Given the description of an element on the screen output the (x, y) to click on. 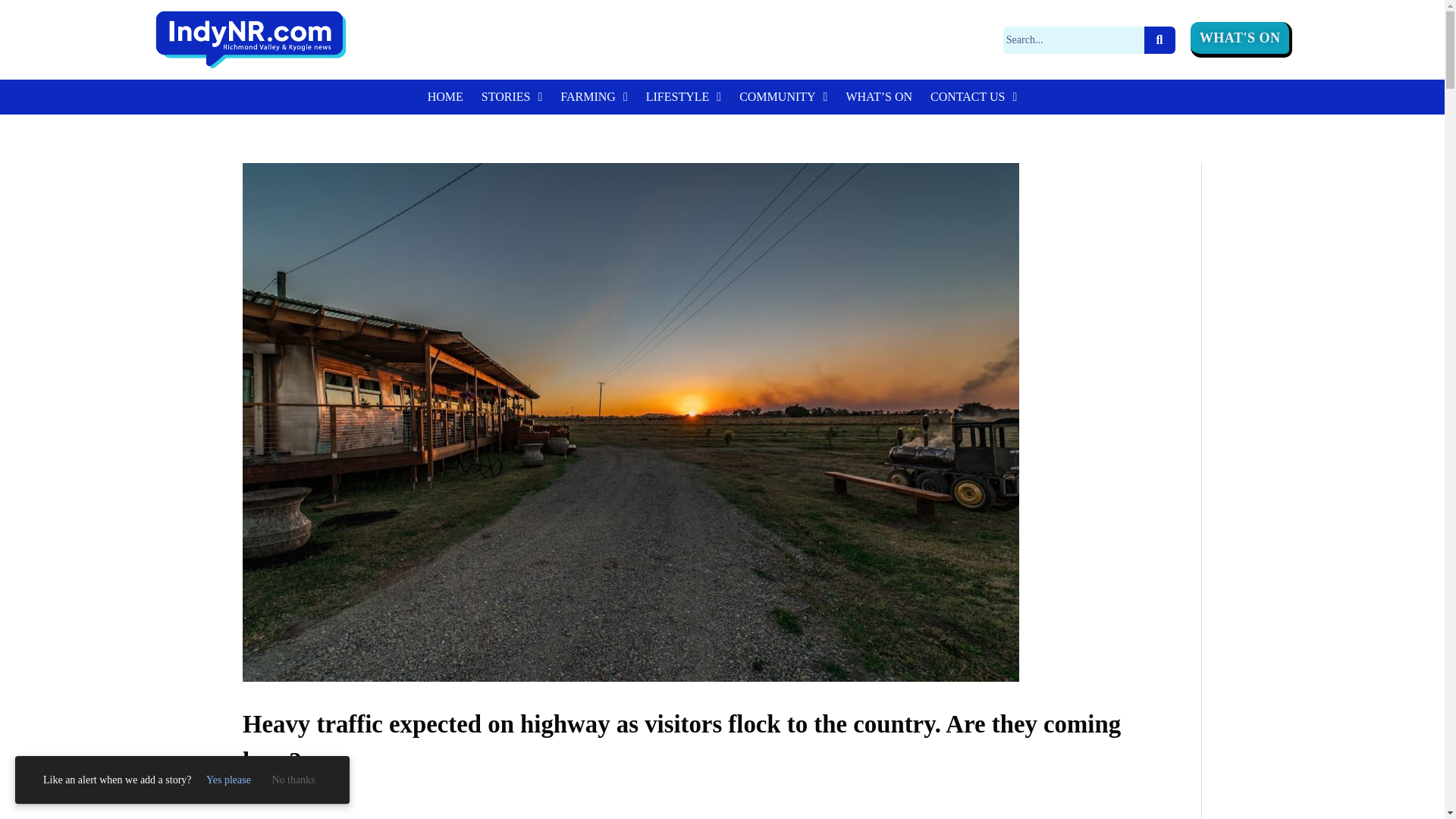
FARMING (593, 96)
HOME (445, 96)
LIFESTYLE (683, 96)
CONTACT US (973, 96)
WHAT'S ON (1241, 39)
COMMUNITY (782, 96)
STORIES (511, 96)
Search (1073, 40)
